Given the description of an element on the screen output the (x, y) to click on. 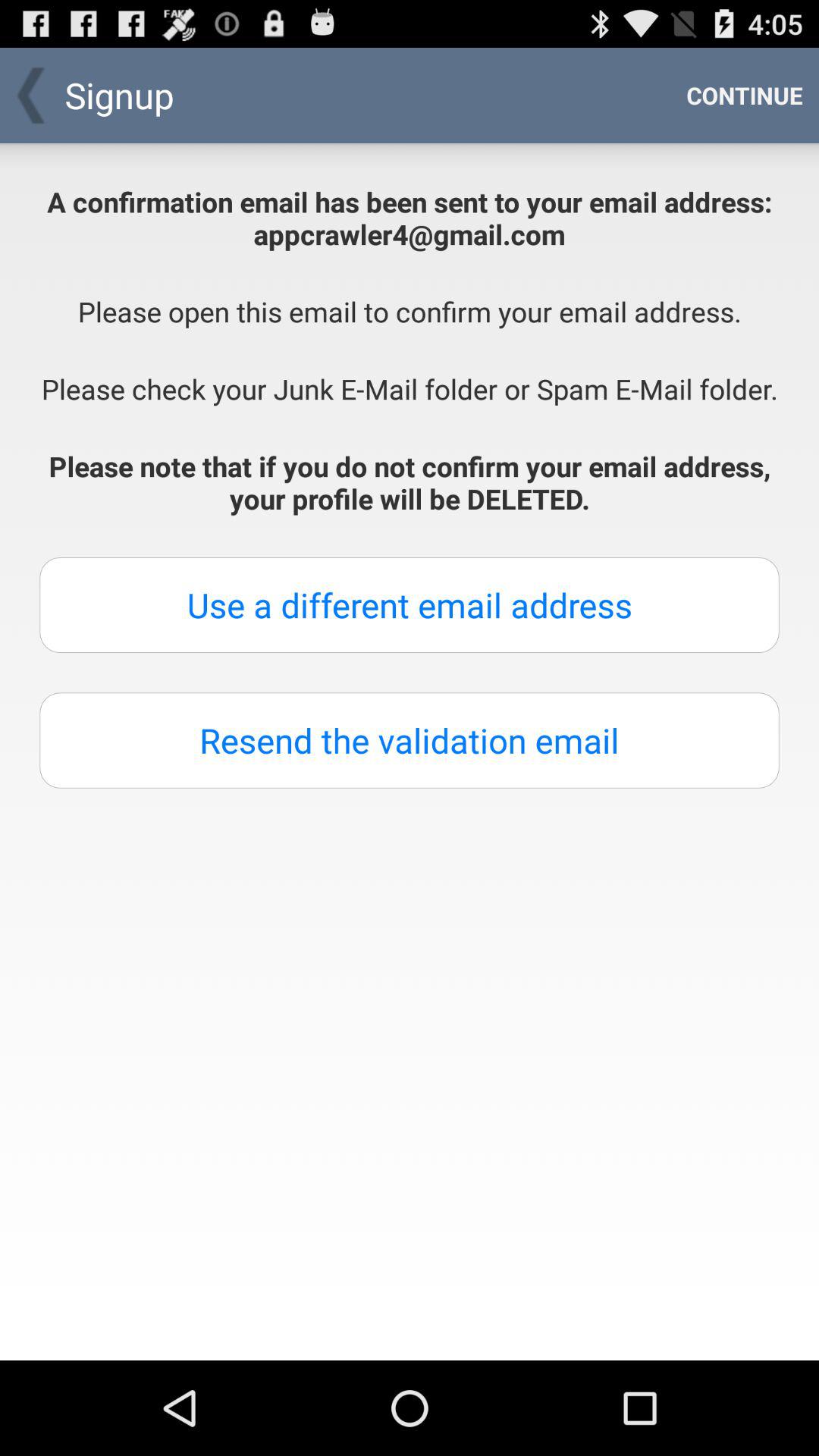
launch button below the use a different button (409, 740)
